Given the description of an element on the screen output the (x, y) to click on. 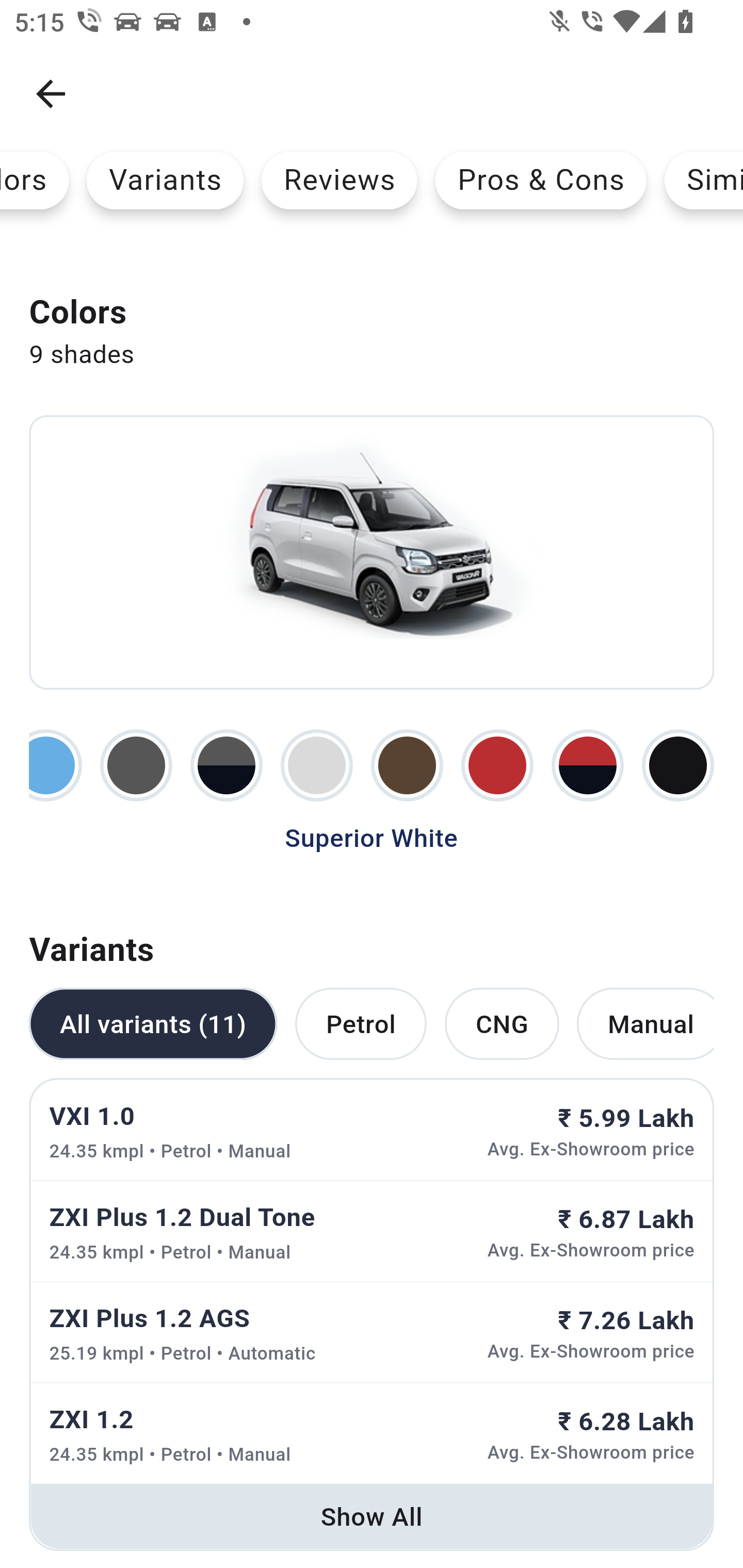
Back (50, 93)
Variants (164, 180)
Reviews (339, 180)
Pros & Cons (540, 180)
All variants (11) (152, 1023)
Petrol (360, 1023)
CNG (501, 1023)
Manual (645, 1023)
Show All (371, 1516)
